Given the description of an element on the screen output the (x, y) to click on. 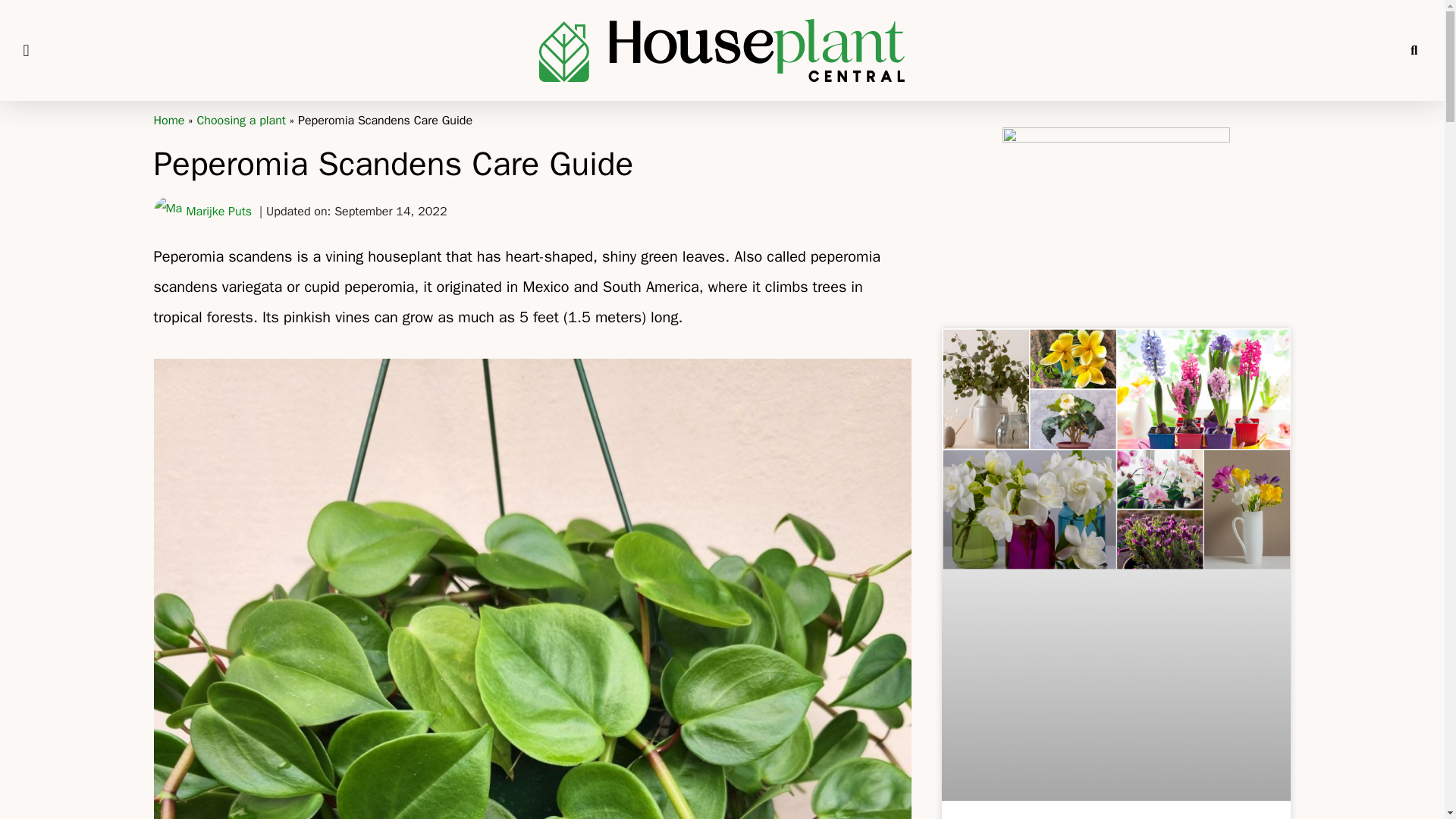
Home (168, 120)
Marijke Puts (201, 211)
Choosing a plant (240, 120)
